Given the description of an element on the screen output the (x, y) to click on. 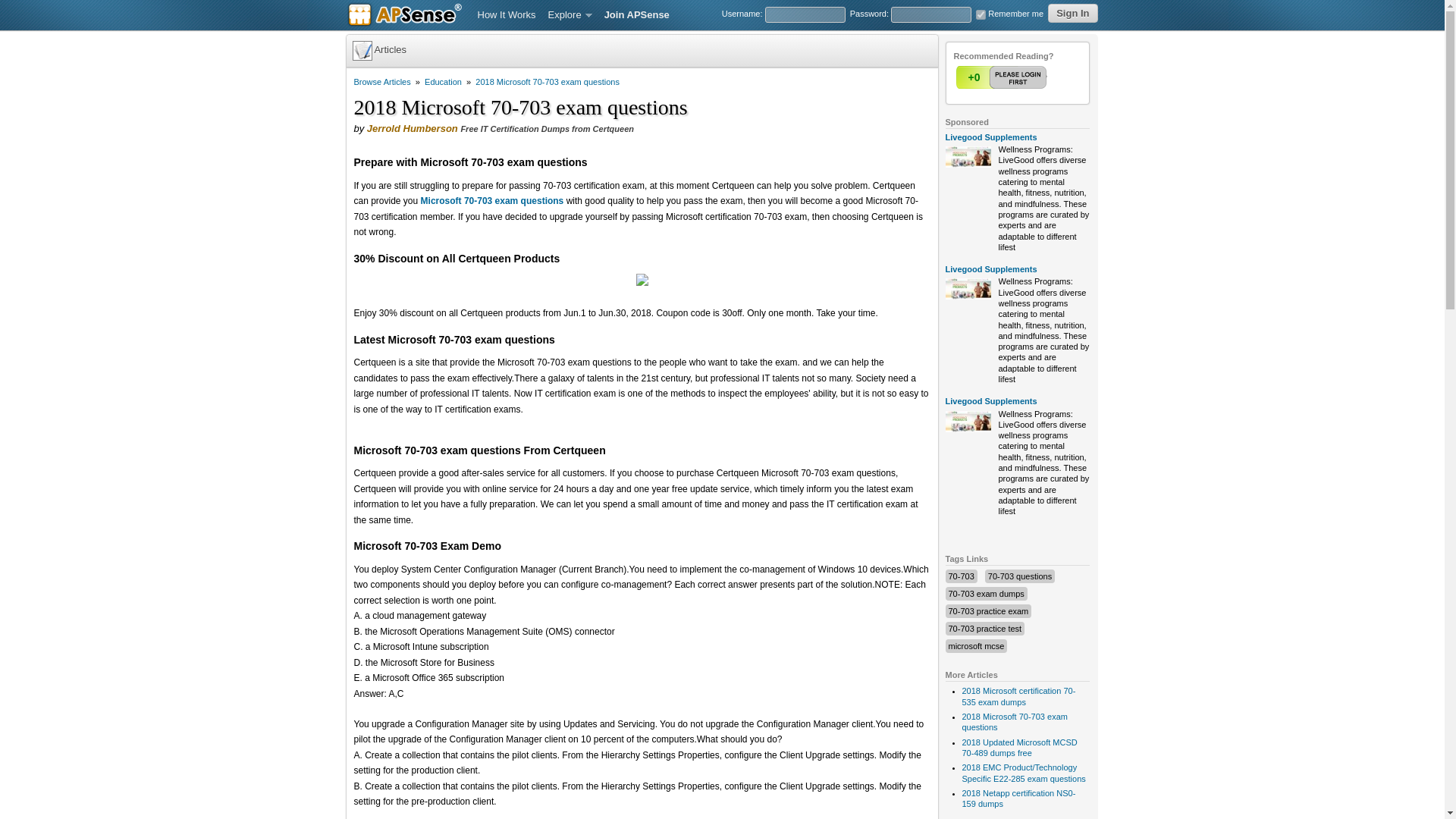
Education (443, 81)
Vote Down (1031, 77)
2018 Microsoft 70-703 exam questions (548, 81)
Livegood Supplements (990, 268)
Sign In (1072, 13)
Vote Up (1002, 77)
Votes Up (973, 77)
Advertisement (641, 814)
-1 (1031, 77)
2018 Updated Microsoft MCSD 70-489 dumps free (1018, 747)
Livegood Supplements (990, 400)
-1 (1031, 77)
1 (1002, 77)
2018 Microsoft certification 70-535 exam dumps (1017, 695)
Livegood Supplements (990, 136)
